Given the description of an element on the screen output the (x, y) to click on. 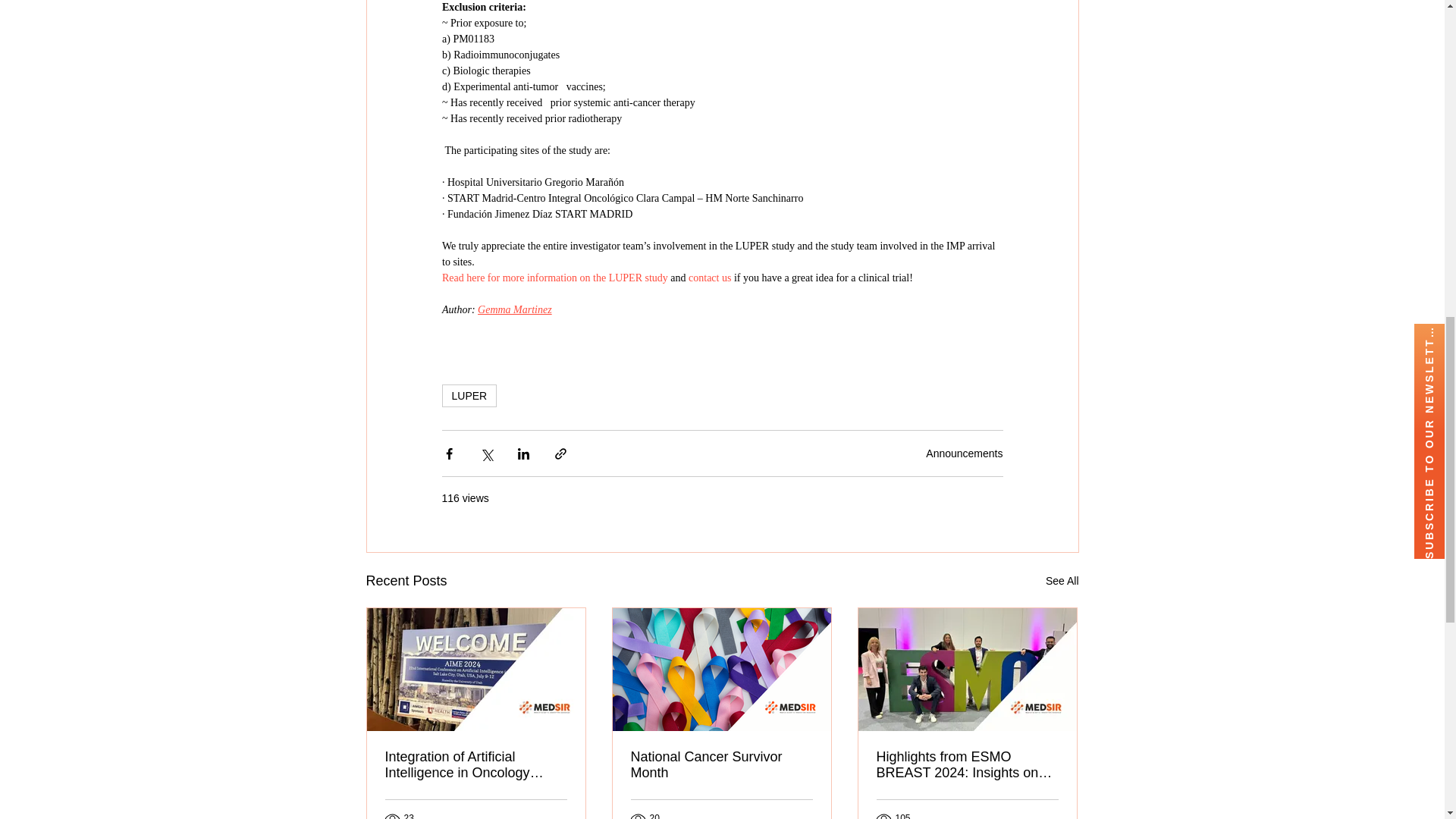
Announcements (964, 453)
See All (1061, 581)
contact us (709, 277)
National Cancer Survivor Month (721, 765)
Integration of Artificial Intelligence in Oncology Research (476, 765)
Gemma Martinez (514, 309)
LUPER (468, 395)
Read here for more information on the LUPER study (553, 277)
